Given the description of an element on the screen output the (x, y) to click on. 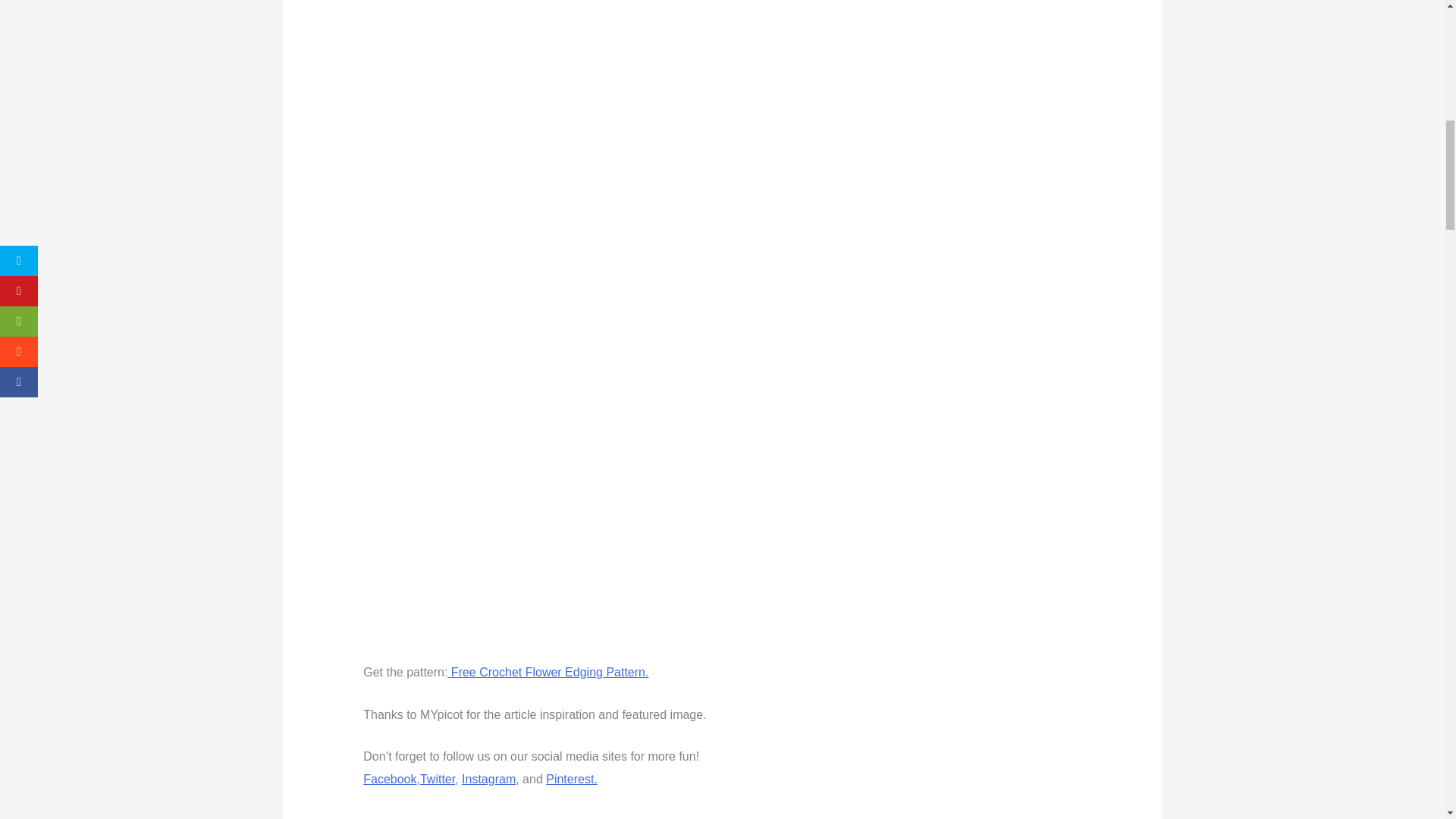
Twitter (437, 779)
Pinterest. (571, 779)
Instagram (488, 779)
Facebook (389, 779)
Free Crochet Flower Edging Pattern. (546, 671)
